Given the description of an element on the screen output the (x, y) to click on. 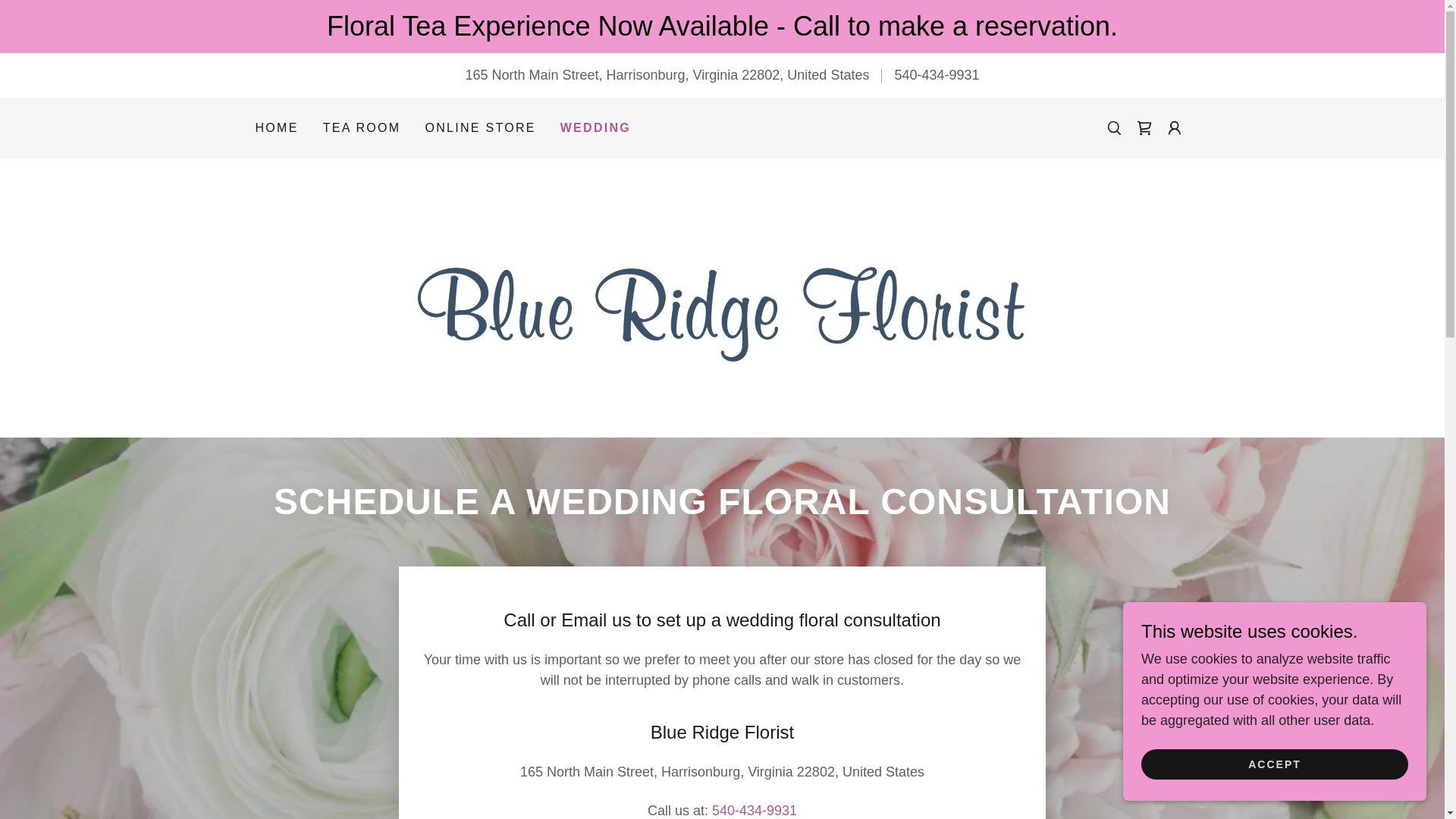
ONLINE STORE (480, 127)
540-434-9931 (753, 810)
TEA ROOM (362, 127)
WEDDING (595, 127)
HOME (276, 127)
540-434-9931 (935, 74)
Blue Ridge Florist (721, 296)
